Given the description of an element on the screen output the (x, y) to click on. 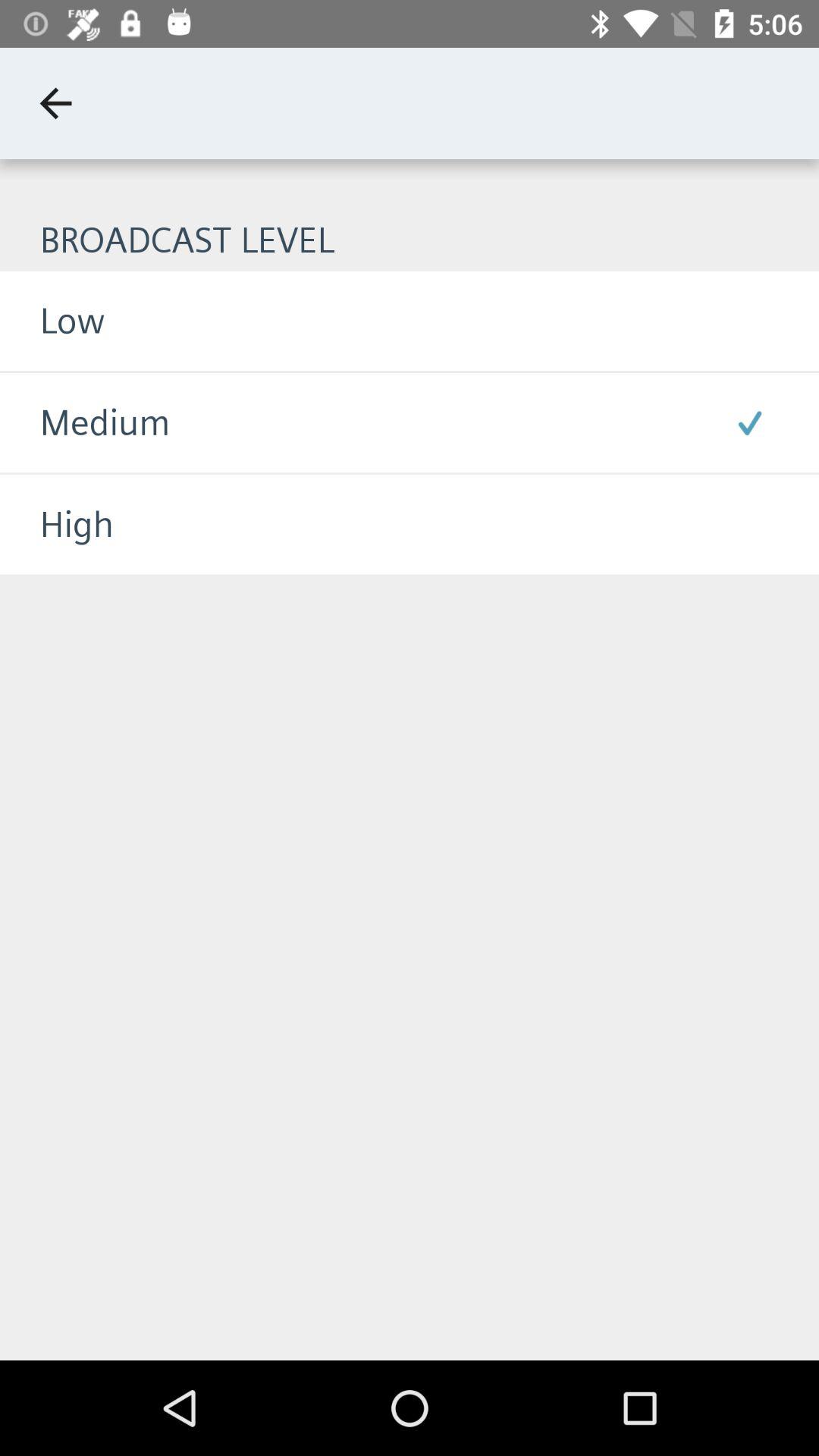
press item to the right of the medium icon (749, 422)
